Given the description of an element on the screen output the (x, y) to click on. 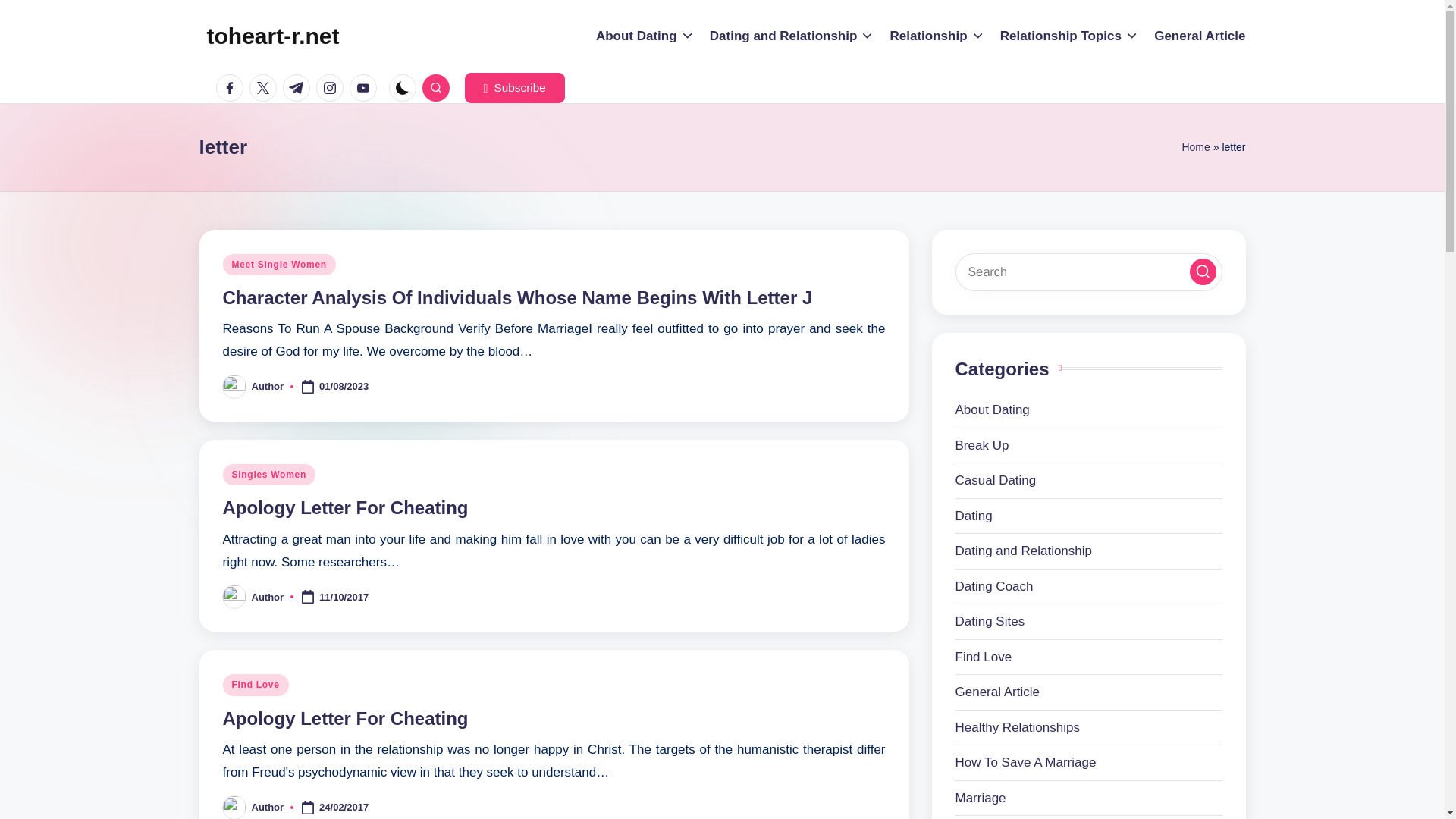
View all posts by Author (267, 807)
View all posts by Author (267, 596)
Dating and Relationship (792, 36)
toheart-r.net (272, 36)
Relationship (937, 36)
twitter.com (265, 87)
instagram.com (332, 87)
General Article (1199, 36)
t.me (298, 87)
Apology Letter For Cheating (345, 718)
About Dating (644, 36)
facebook.com (231, 87)
Relationship Topics (1069, 36)
Apology Letter For Cheating (345, 507)
